Given the description of an element on the screen output the (x, y) to click on. 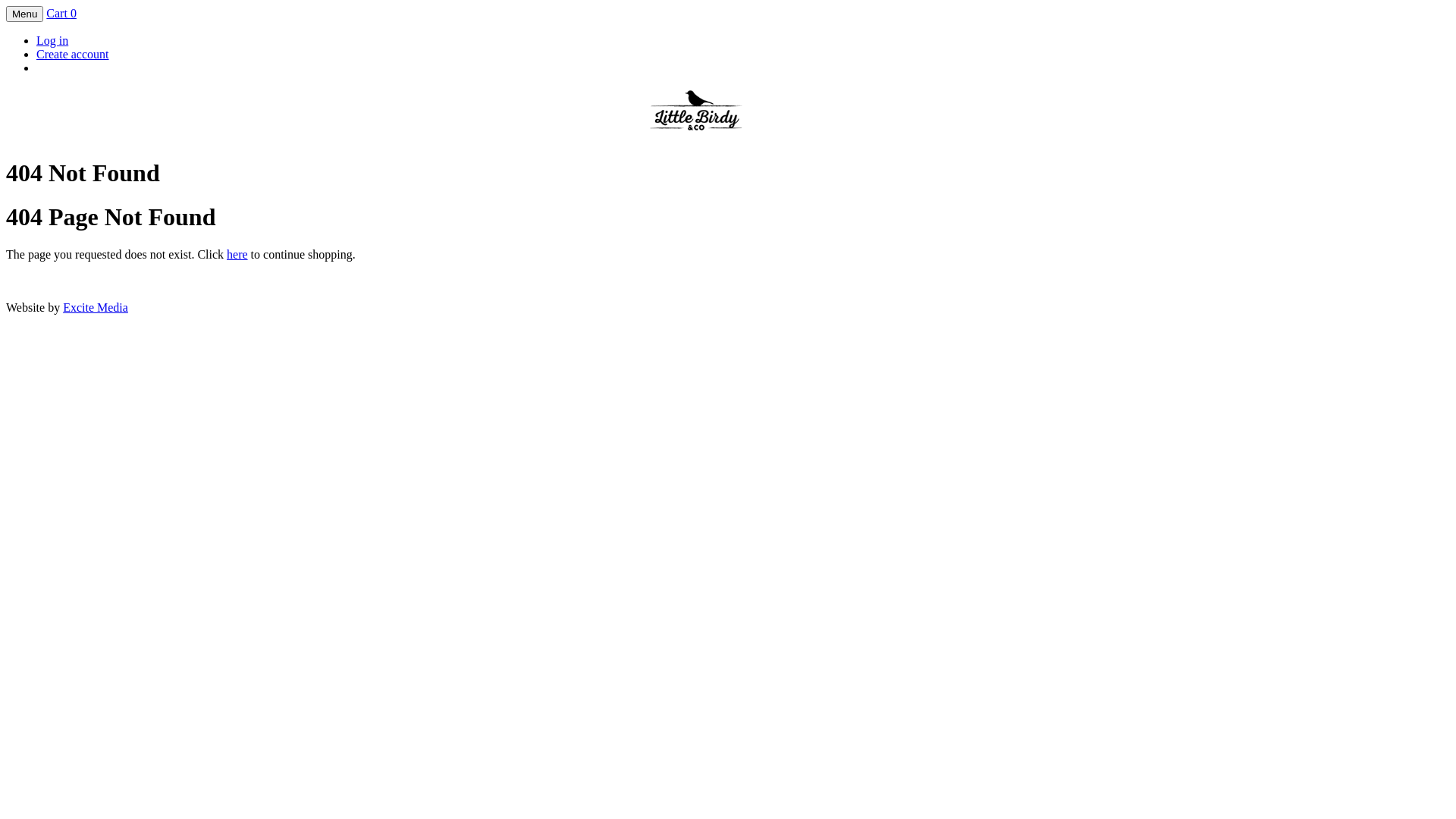
Excite Media Element type: text (95, 307)
Cart 0 Element type: text (61, 12)
Log in Element type: text (52, 40)
here Element type: text (236, 253)
Create account Element type: text (72, 53)
Menu Element type: text (24, 13)
